Given the description of an element on the screen output the (x, y) to click on. 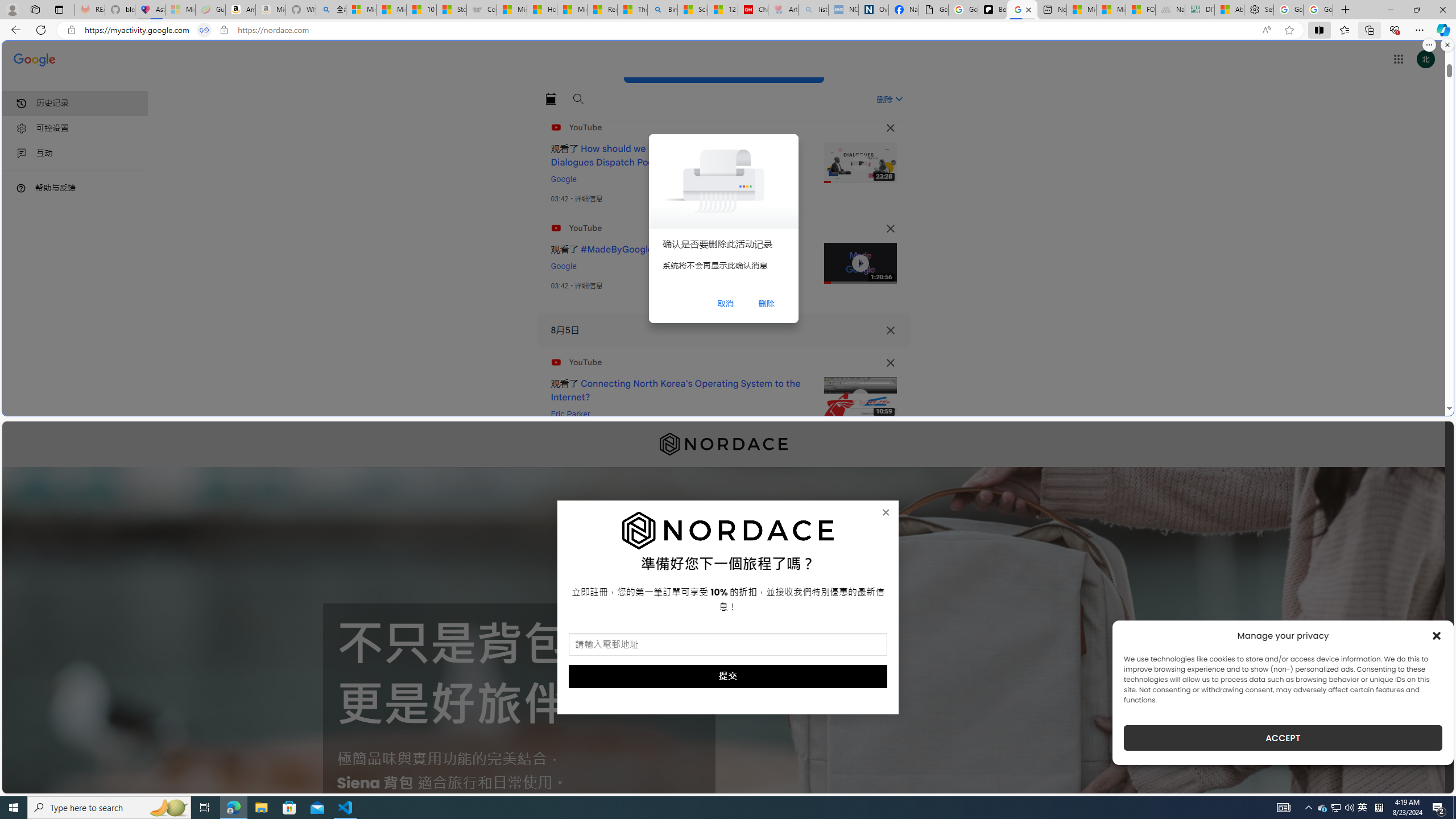
Tabs in split screen (203, 29)
Recipes - MSN (601, 9)
Class: DI7Mnf NMm5M (889, 330)
Close split screen. (1447, 45)
ACCEPT (1283, 737)
Eric Parker (569, 414)
Bing (662, 9)
Arthritis: Ask Health Professionals - Sleeping (782, 9)
